Given the description of an element on the screen output the (x, y) to click on. 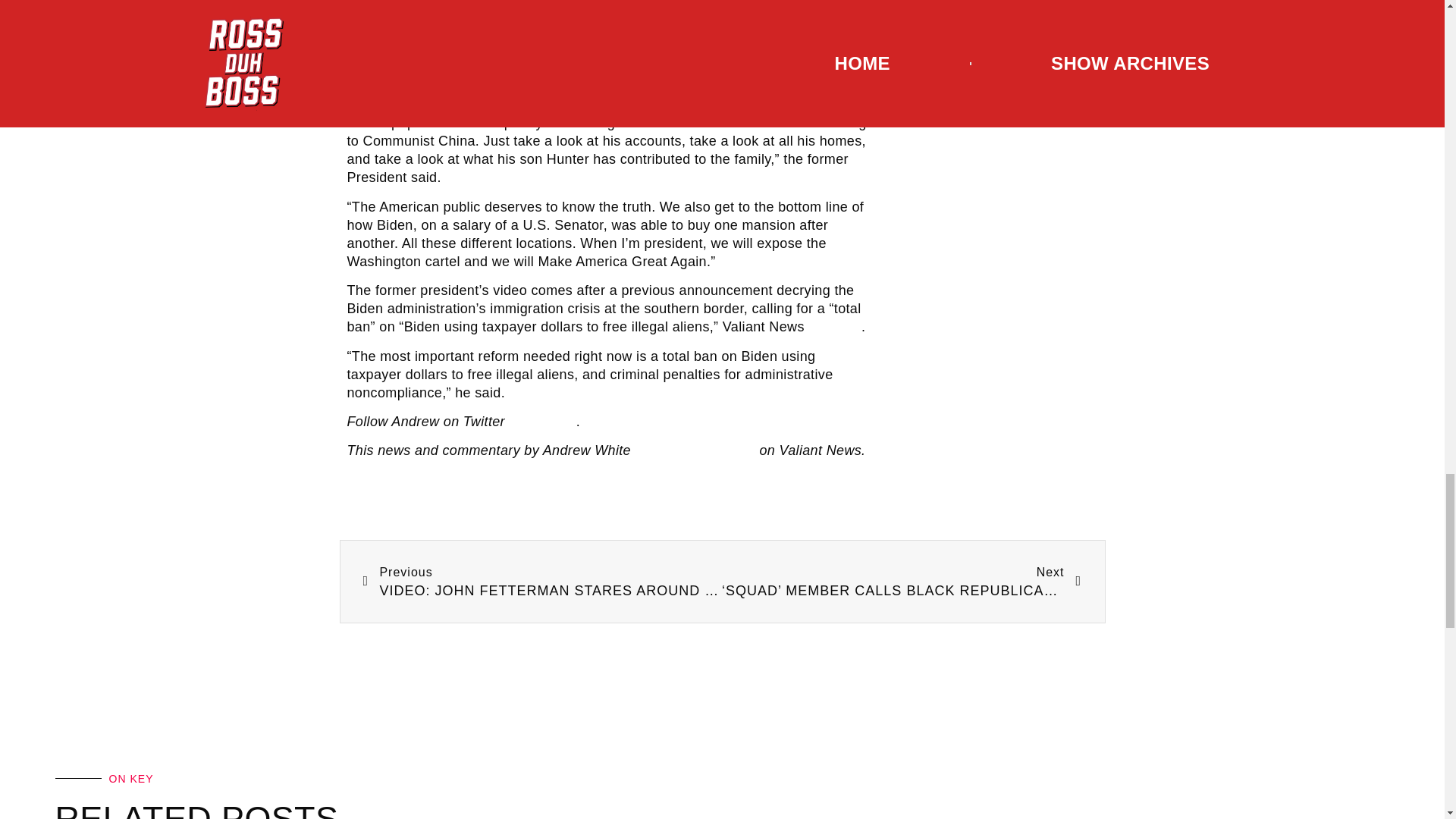
originally appeared (694, 450)
reported (834, 326)
